Given the description of an element on the screen output the (x, y) to click on. 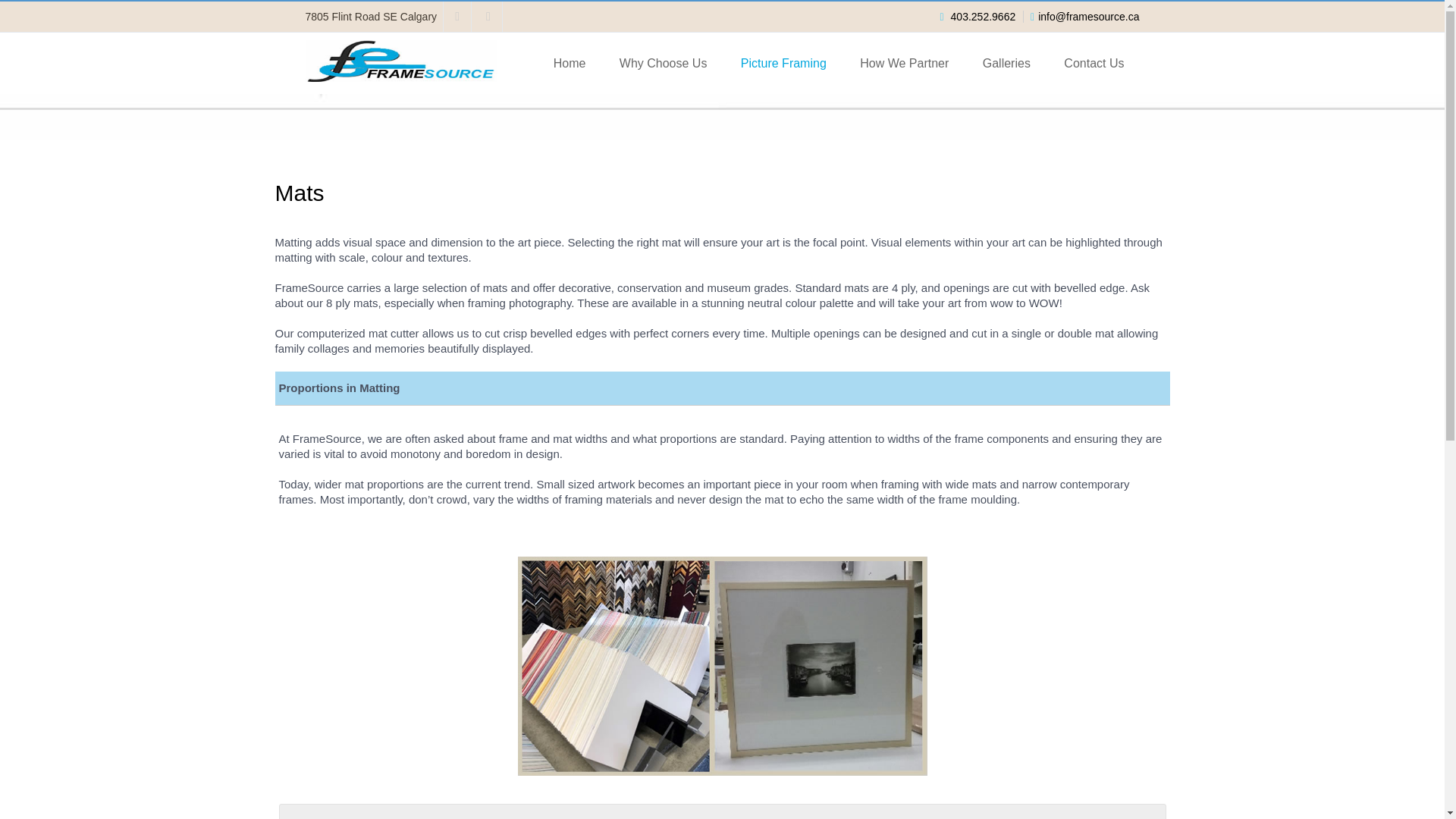
Galleries (1006, 63)
Home (569, 63)
MUSEUM MATS (721, 811)
instagram (488, 16)
facebook (457, 16)
Contact Us (1093, 63)
Picture Framing (783, 63)
Why Choose Us (663, 63)
403.252.9662 (983, 16)
How We Partner (903, 63)
